Given the description of an element on the screen output the (x, y) to click on. 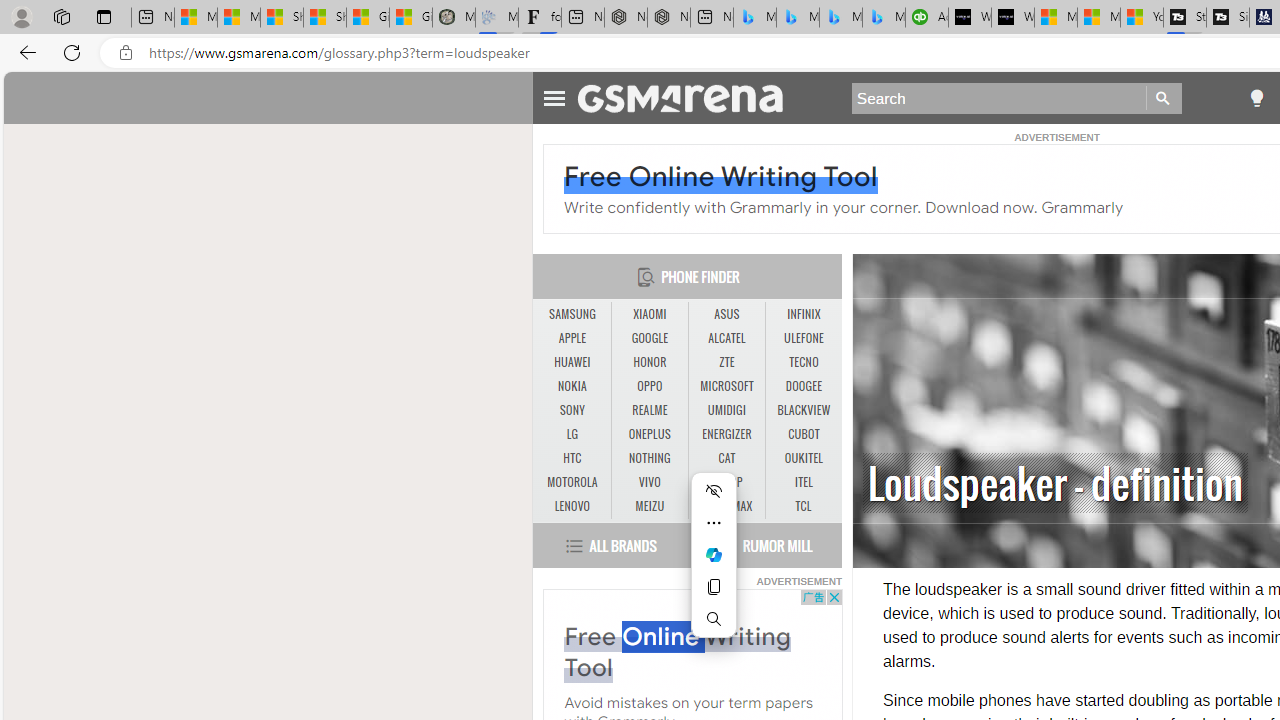
Mini menu on text selection (714, 555)
OPPO (649, 386)
APPLE (571, 338)
APPLE (571, 339)
ZTE (726, 362)
ZTE (726, 362)
GOOGLE (649, 338)
NOKIA (571, 385)
Shanghai, China weather forecast | Microsoft Weather (324, 17)
ULEFONE (803, 338)
ASUS (726, 313)
CAT (726, 458)
REALME (649, 411)
